Given the description of an element on the screen output the (x, y) to click on. 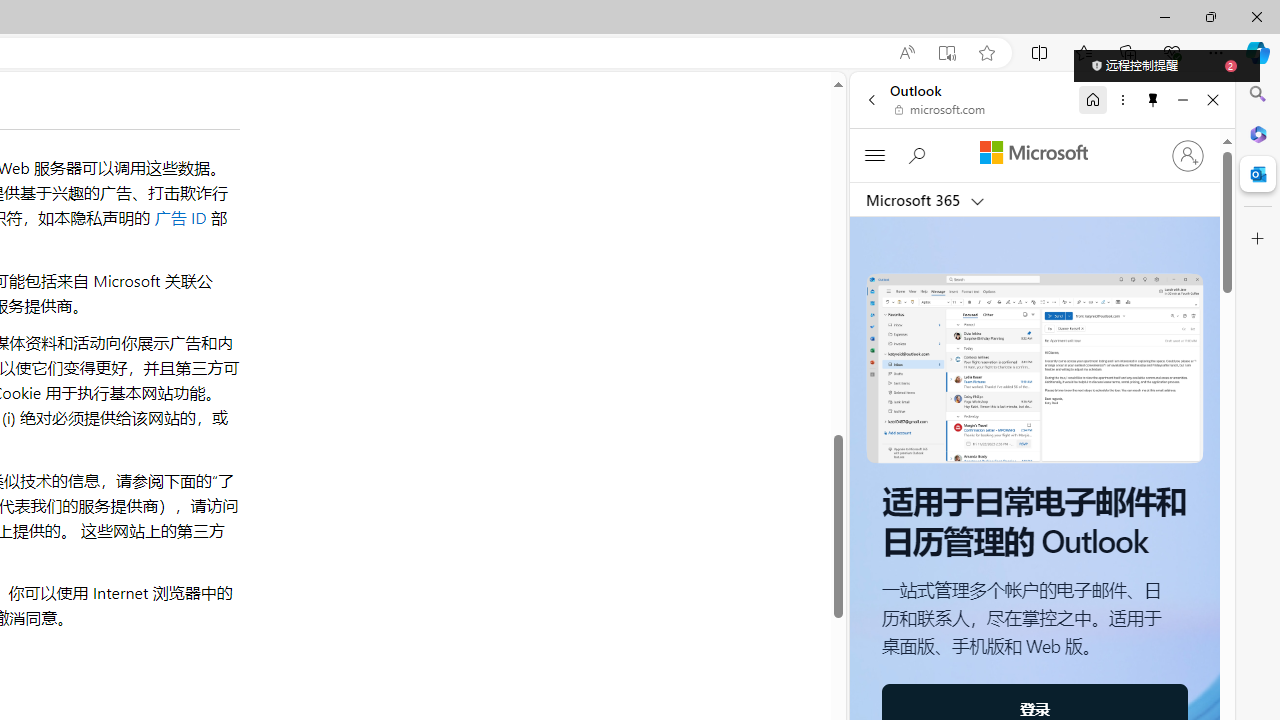
microsoft.com (940, 110)
